Given the description of an element on the screen output the (x, y) to click on. 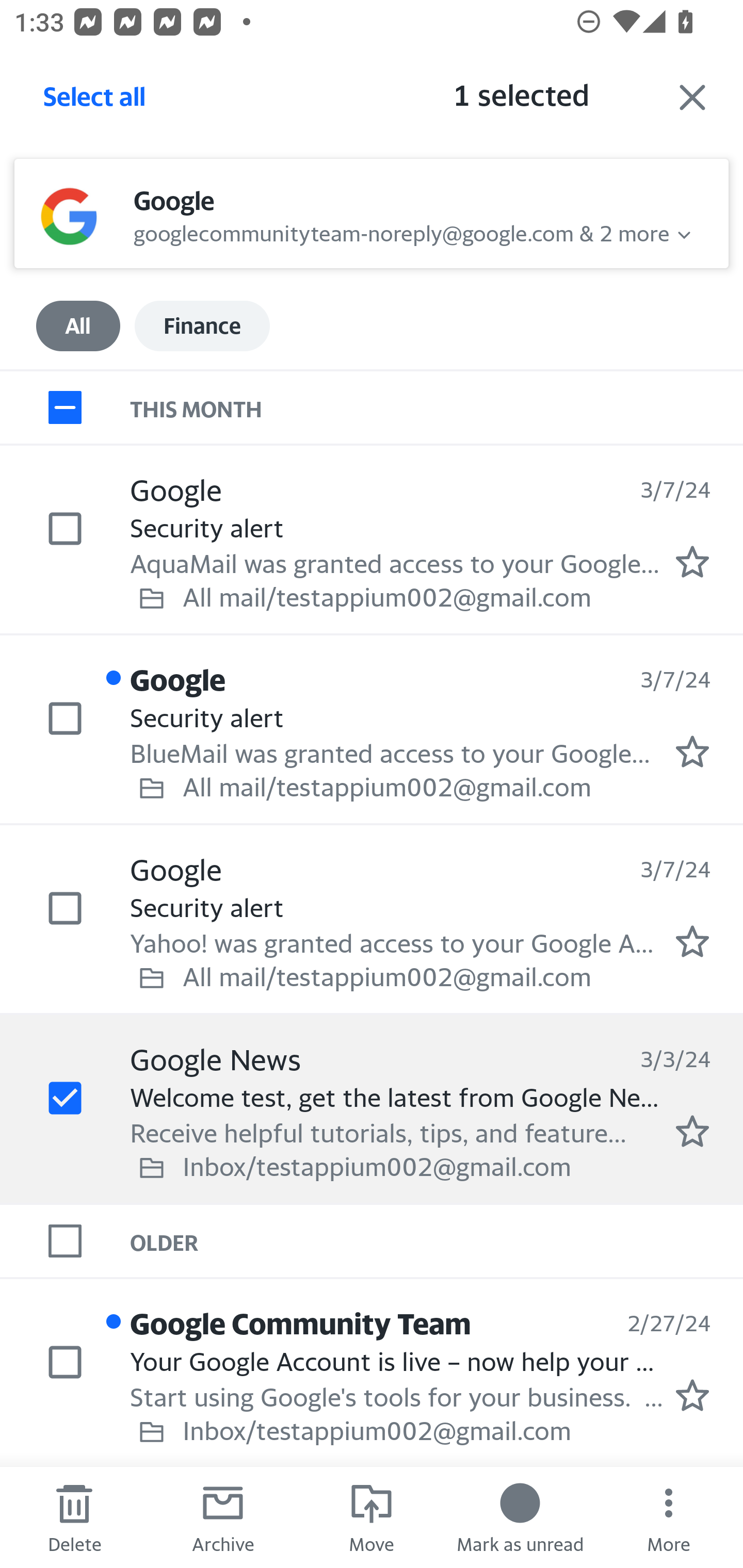
Exit selection mode (692, 97)
Select all (94, 101)
googlecommunityteam-noreply@google.com & 2 more (401, 231)
All (78, 326)
Finance (201, 326)
THIS MONTH (436, 406)
Mark as starred. (692, 562)
Mark as starred. (692, 751)
Mark as starred. (692, 941)
Mark as starred. (692, 1131)
OLDER (436, 1240)
Mark as starred. (692, 1394)
Delete (74, 1517)
Archive (222, 1517)
Move (371, 1517)
Mark as unread (519, 1517)
More (668, 1517)
